Given the description of an element on the screen output the (x, y) to click on. 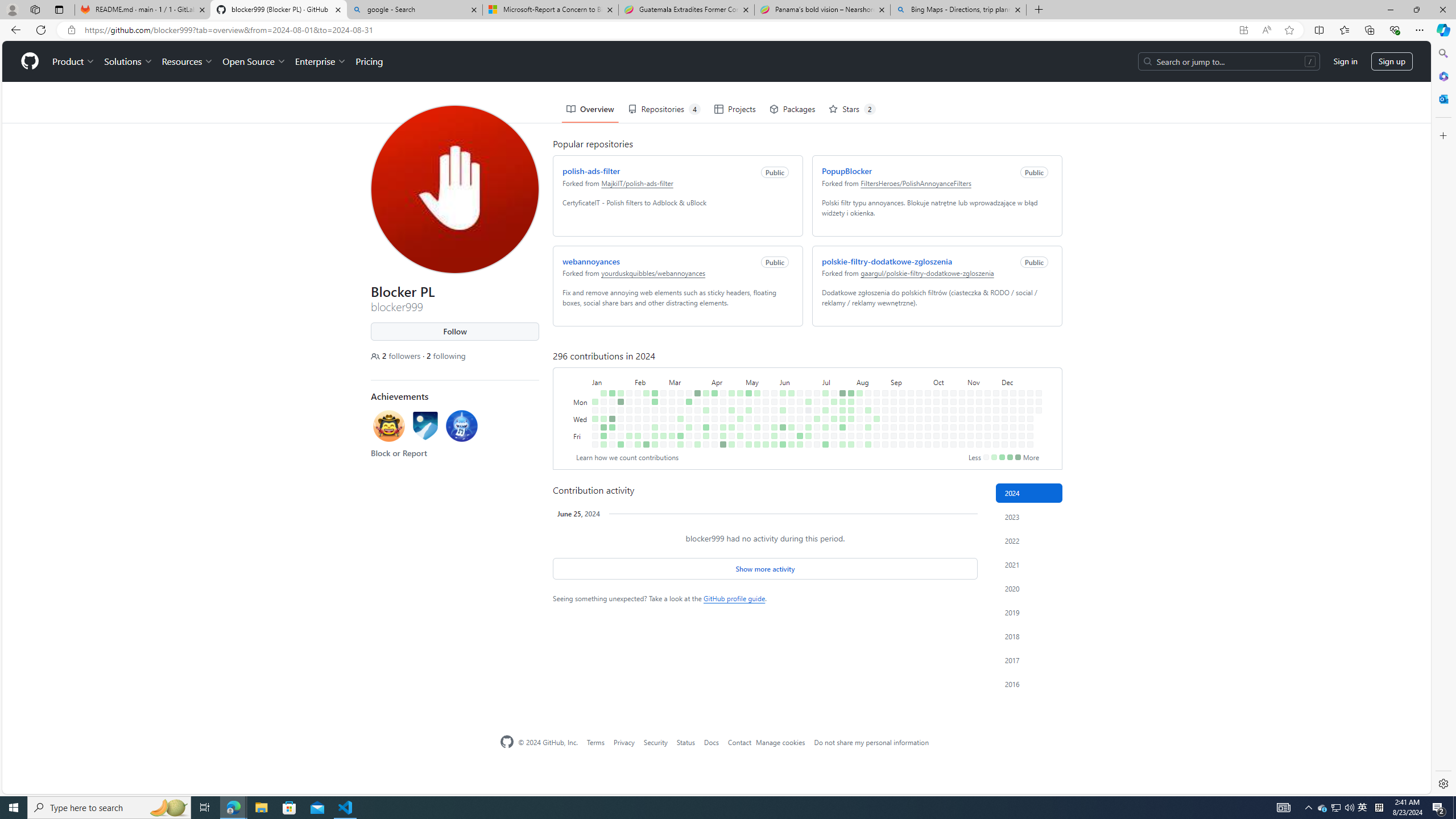
No contributions on April 22nd. (729, 360)
2019 (1028, 612)
No contributions on December 23rd. (1027, 360)
1 contribution on July 30th. (848, 369)
No contributions on February 15th. (643, 386)
Achievement: Quickdraw (386, 384)
No contributions on December 24th. (1027, 369)
1 contribution on June 1st. (774, 444)
No contributions on January 26th. (618, 394)
No contributions on November 10th. (976, 351)
Status (684, 741)
No contributions on November 27th. (993, 377)
No contributions on December 7th. (1004, 444)
1 contribution on July 27th. (842, 444)
